Given the description of an element on the screen output the (x, y) to click on. 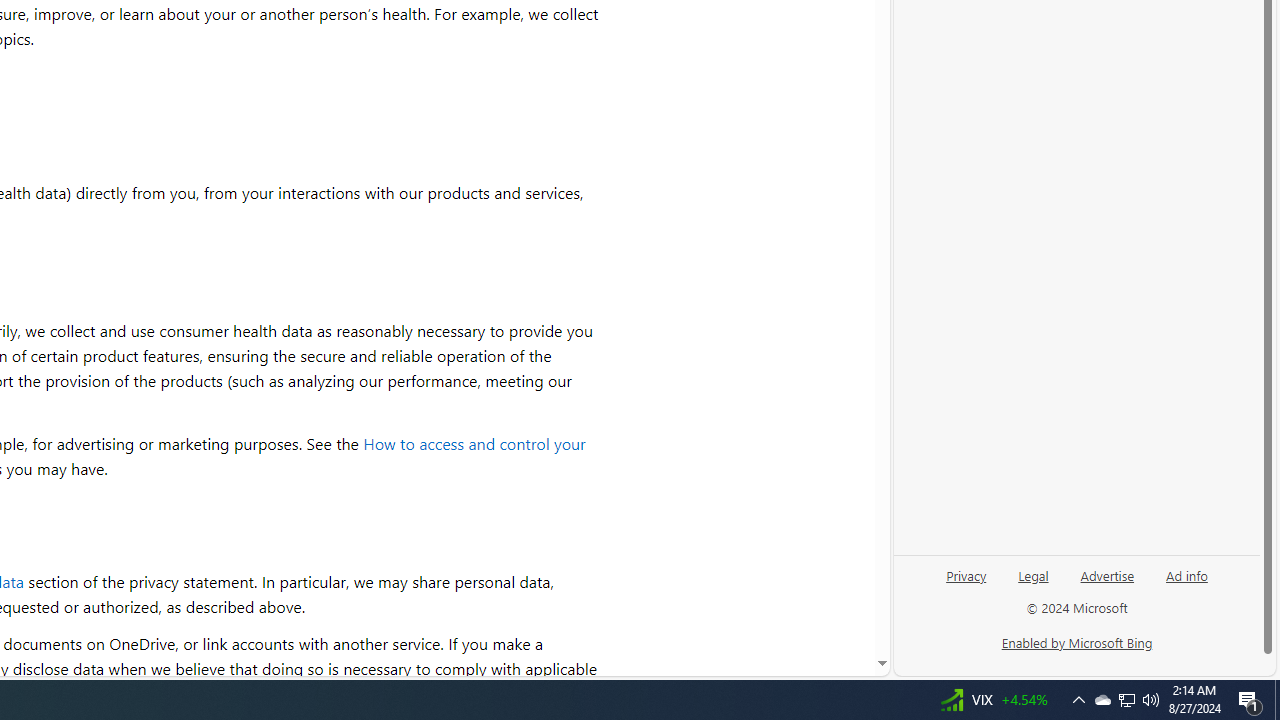
Legal (1033, 574)
Legal (1033, 583)
Ad info (1187, 574)
Ad info (1186, 583)
Privacy (966, 583)
Privacy (965, 574)
